Given the description of an element on the screen output the (x, y) to click on. 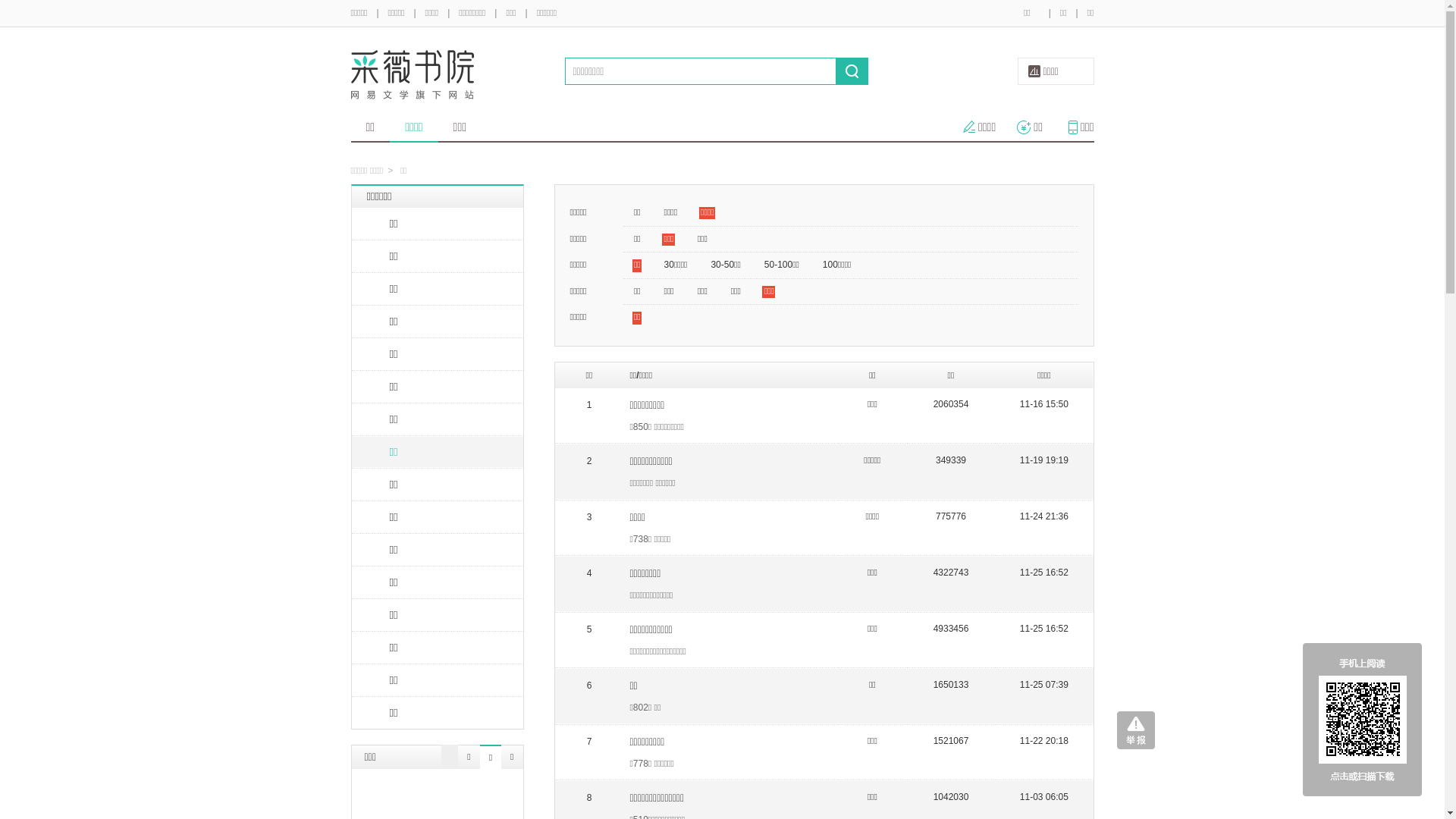
     Element type: text (851, 70)
